Given the description of an element on the screen output the (x, y) to click on. 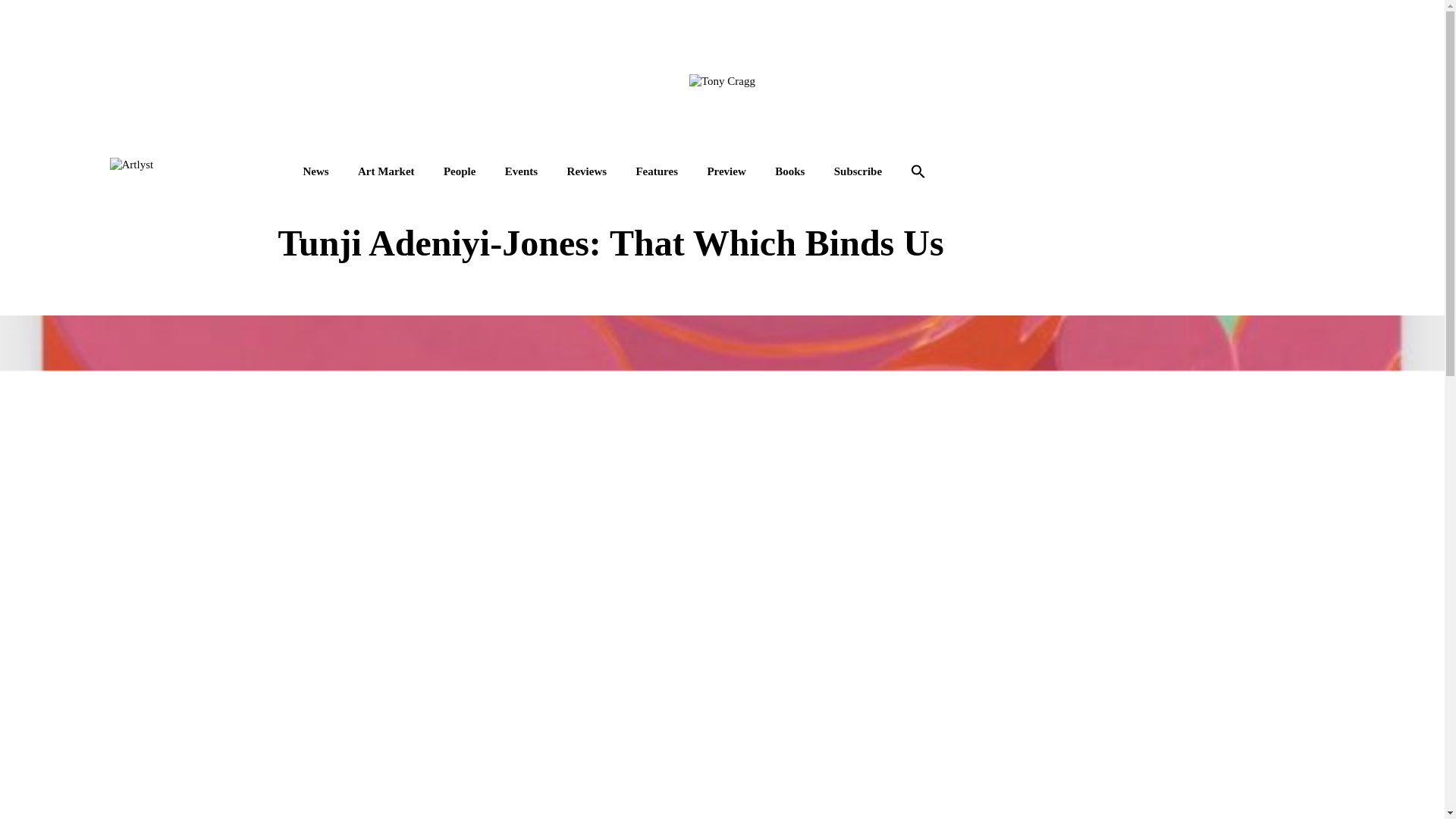
Reviews (587, 171)
Events (521, 171)
Books (789, 171)
News (315, 171)
People (460, 171)
Preview (725, 171)
Subscribe (858, 171)
Features (656, 171)
Art Market (386, 171)
